Given the description of an element on the screen output the (x, y) to click on. 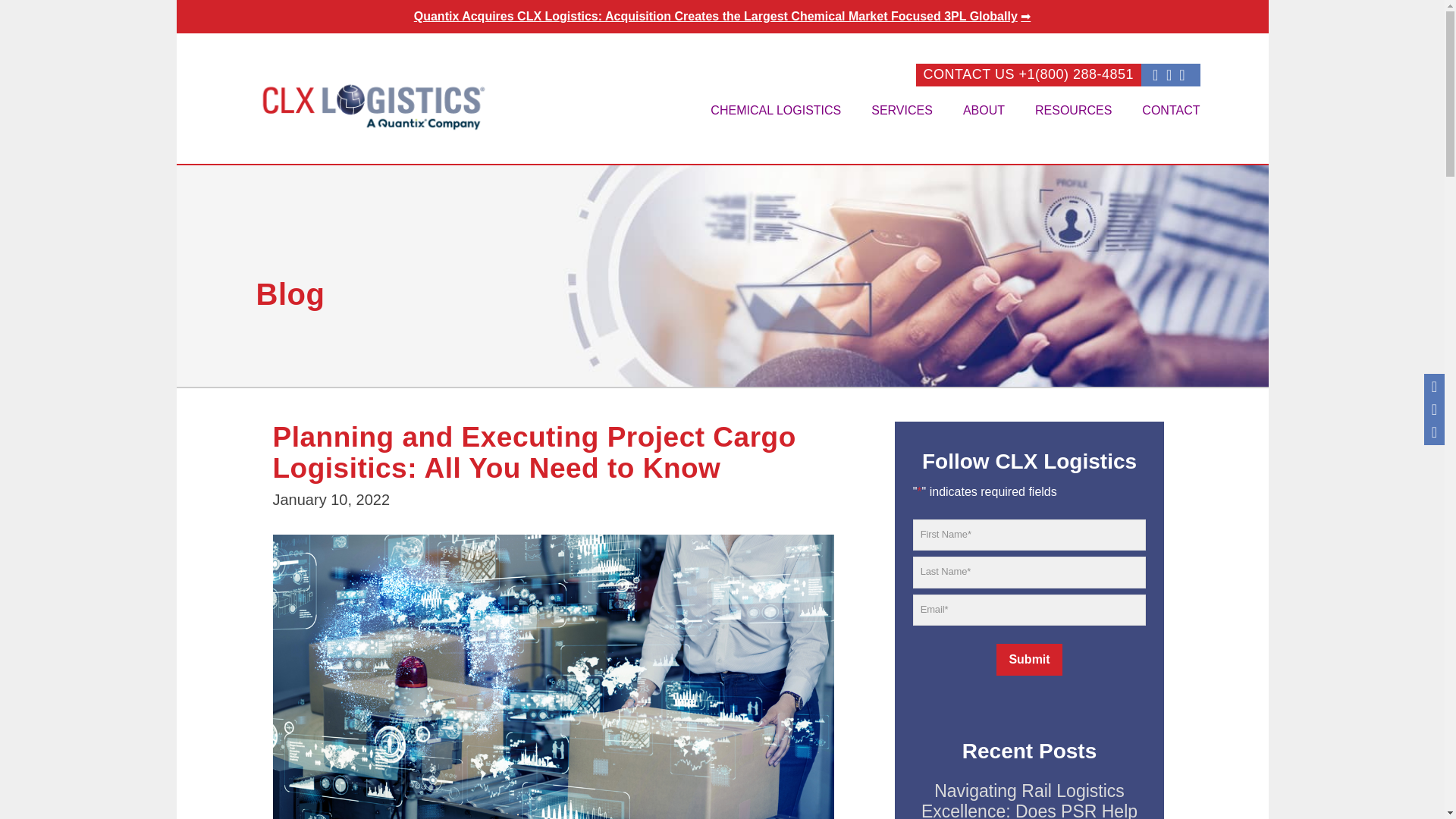
SERVICES (901, 110)
Submit (1028, 659)
ABOUT (983, 110)
CHEMICAL LOGISTICS (775, 110)
